Given the description of an element on the screen output the (x, y) to click on. 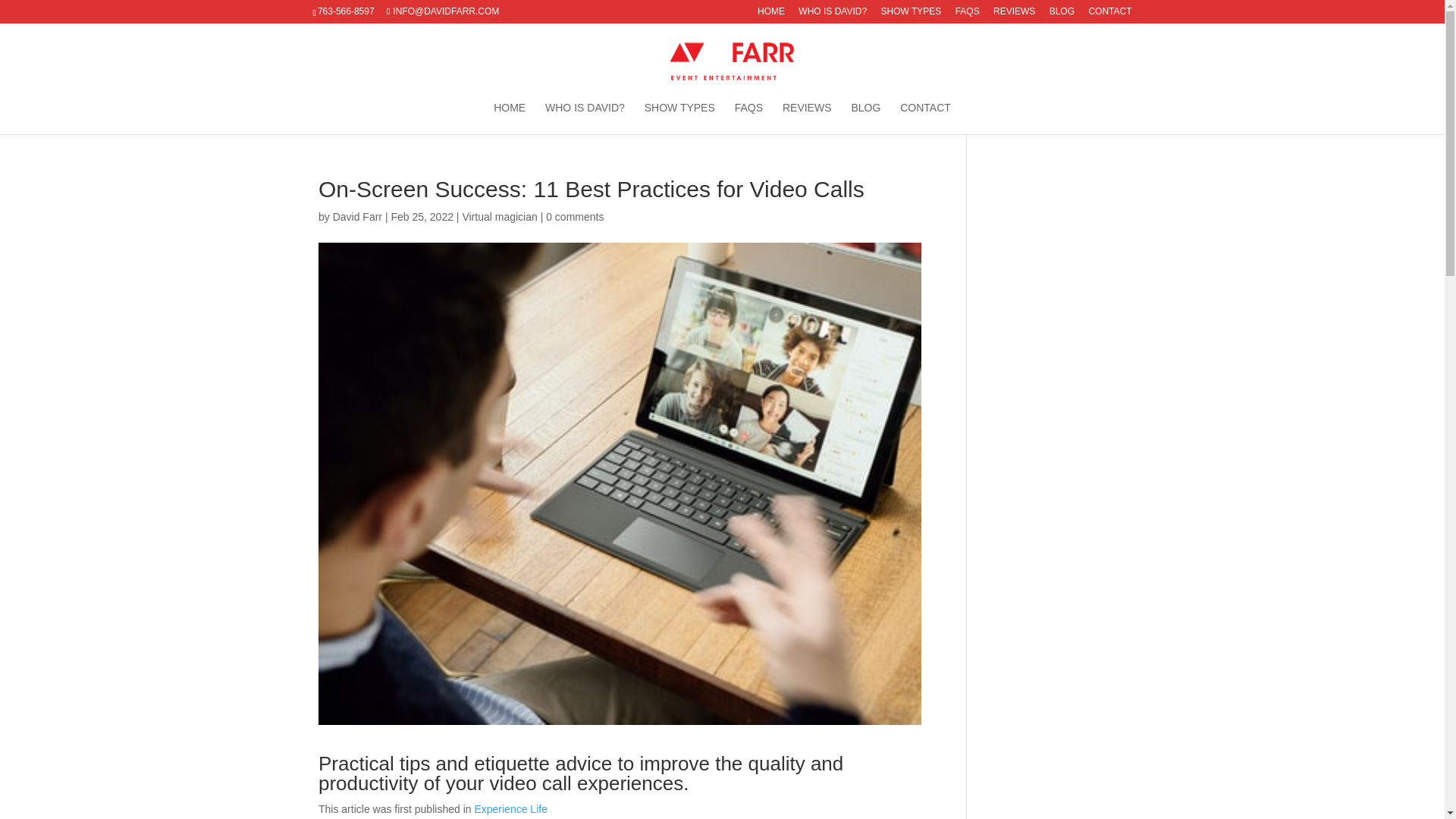
FAQS (967, 14)
BLOG (1061, 14)
0 comments (575, 216)
David Farr (357, 216)
763-566-8597 (348, 10)
Posts by David Farr (357, 216)
CONTACT (924, 118)
REVIEWS (807, 118)
HOME (509, 118)
Virtual magician (499, 216)
WHO IS DAVID? (831, 14)
WHO IS DAVID? (584, 118)
BLOG (865, 118)
REVIEWS (1013, 14)
SHOW TYPES (679, 118)
